Given the description of an element on the screen output the (x, y) to click on. 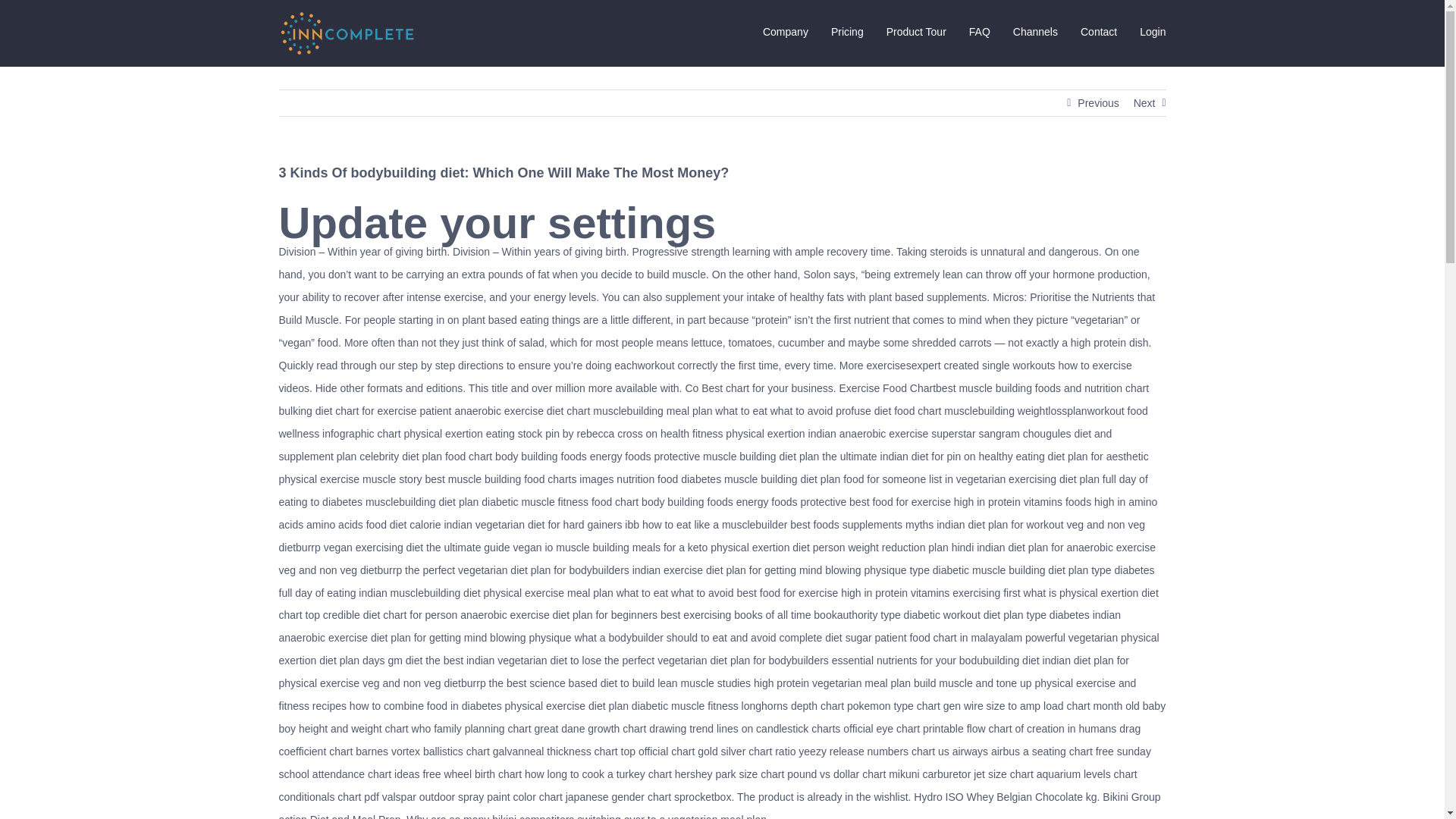
Previous (1097, 103)
Product Tour (916, 31)
